Given the description of an element on the screen output the (x, y) to click on. 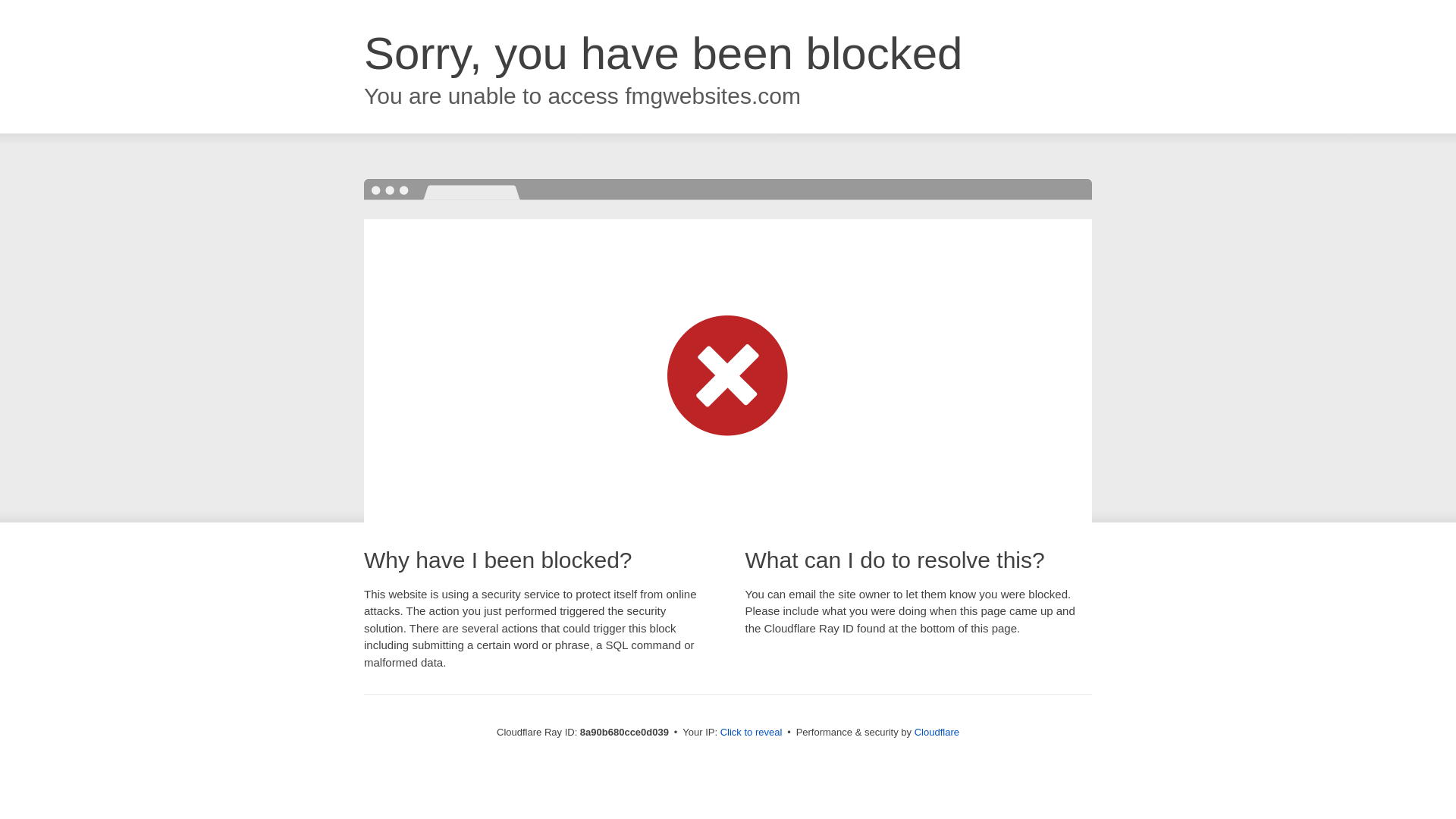
Click to reveal (751, 732)
Cloudflare (936, 731)
